Given the description of an element on the screen output the (x, y) to click on. 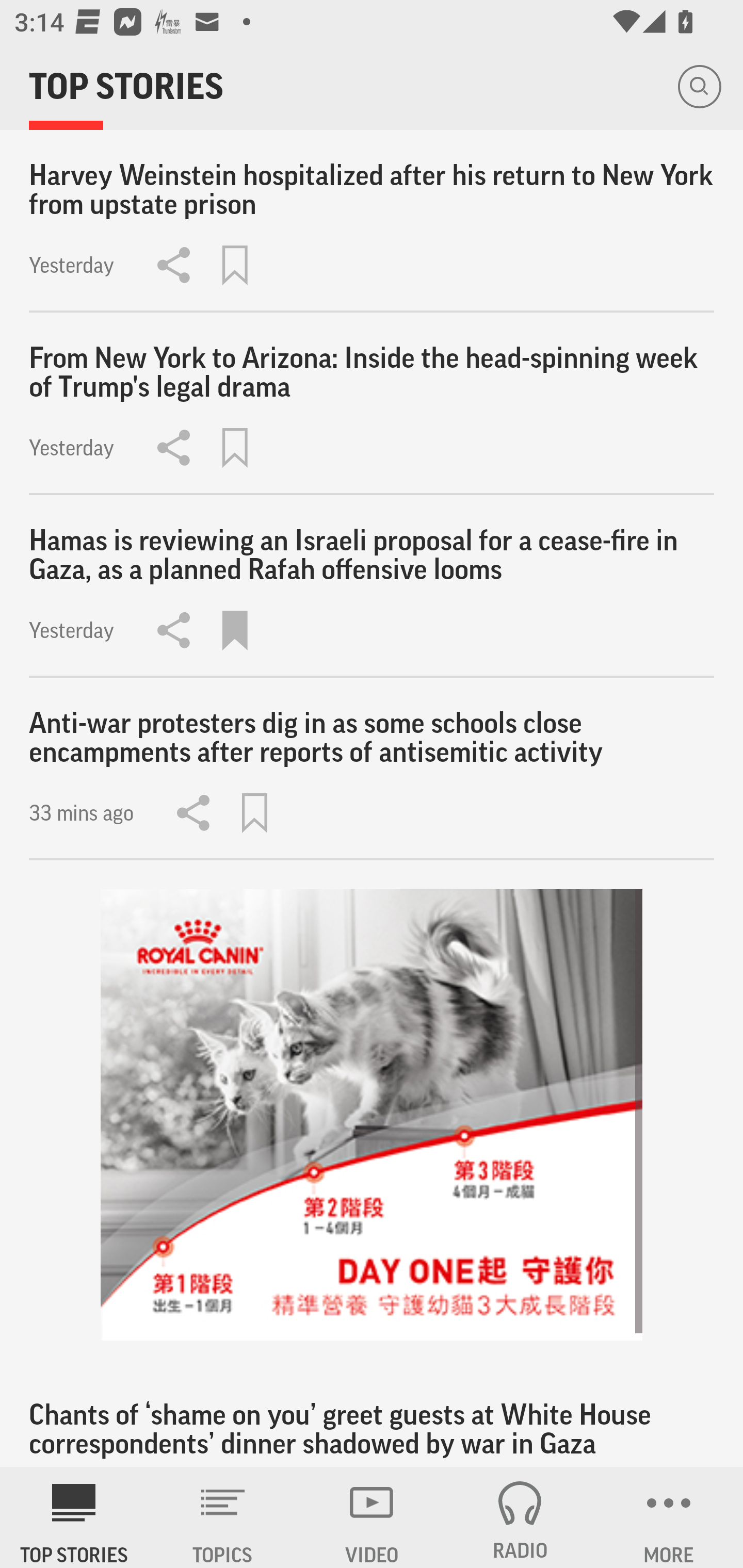
AP News TOP STORIES (74, 1517)
TOPICS (222, 1517)
VIDEO (371, 1517)
RADIO (519, 1517)
MORE (668, 1517)
